Given the description of an element on the screen output the (x, y) to click on. 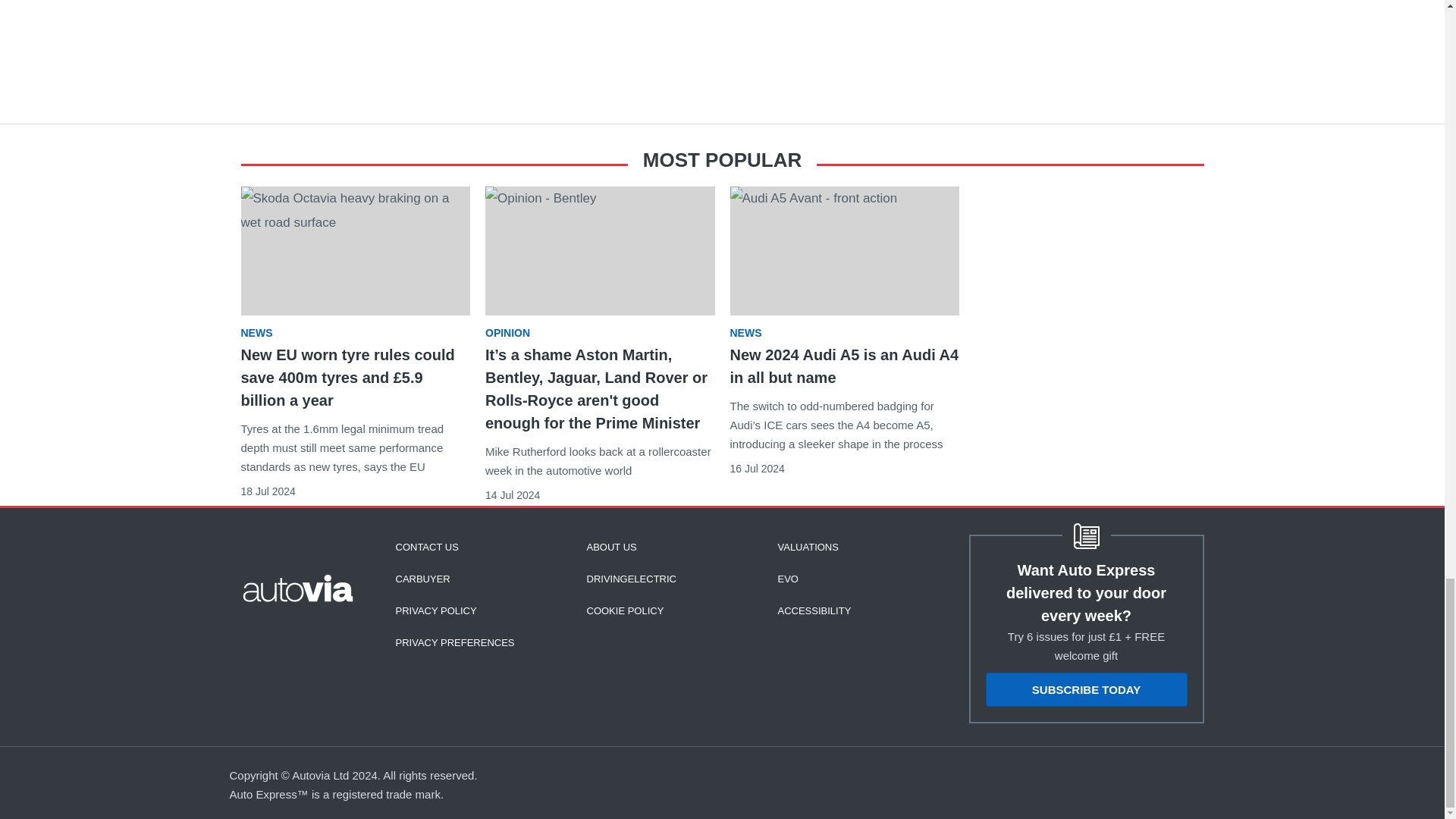
SUBSCRIBE TODAY (1086, 689)
